Given the description of an element on the screen output the (x, y) to click on. 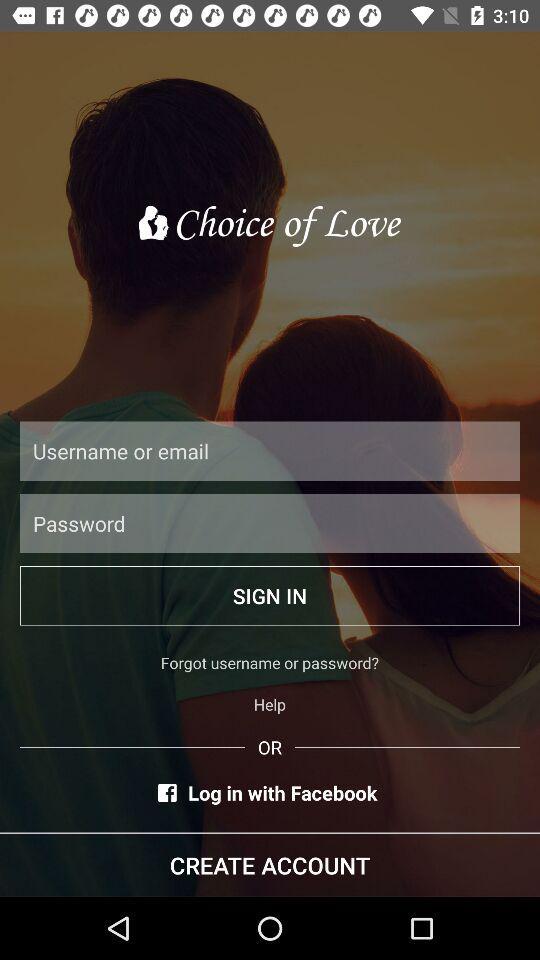
press the sign in item (269, 595)
